Given the description of an element on the screen output the (x, y) to click on. 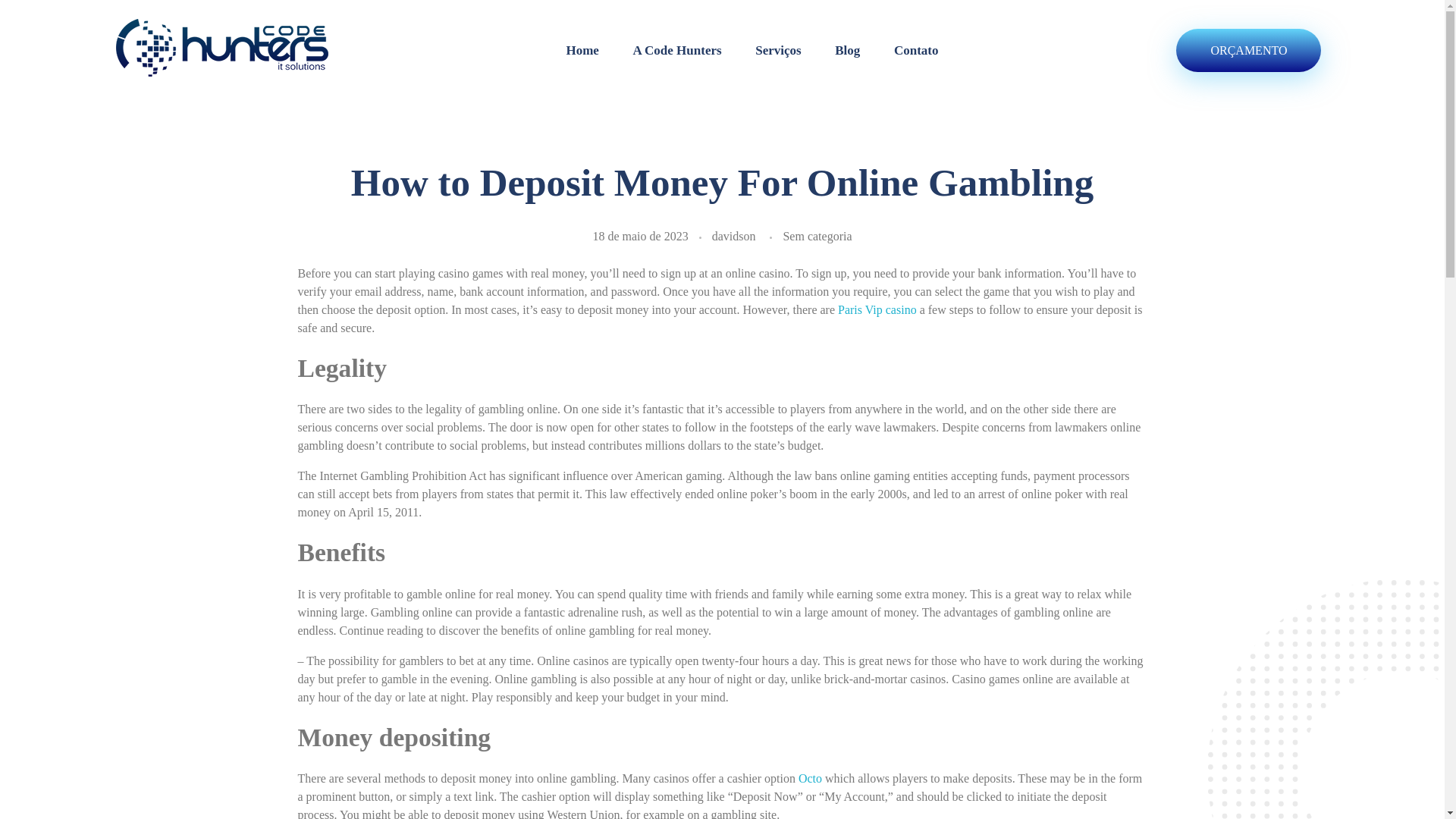
Octo (809, 778)
Code Hunters (174, 85)
Sem categoria (817, 236)
Paris Vip casino (877, 309)
Home (590, 50)
davidson (733, 236)
View all posts in Sem categoria (817, 236)
Code Hunters (161, 85)
Blog (847, 50)
A Code Hunters (676, 50)
Contato (908, 50)
View all posts by davidson (733, 236)
Code Hunters (221, 47)
